Given the description of an element on the screen output the (x, y) to click on. 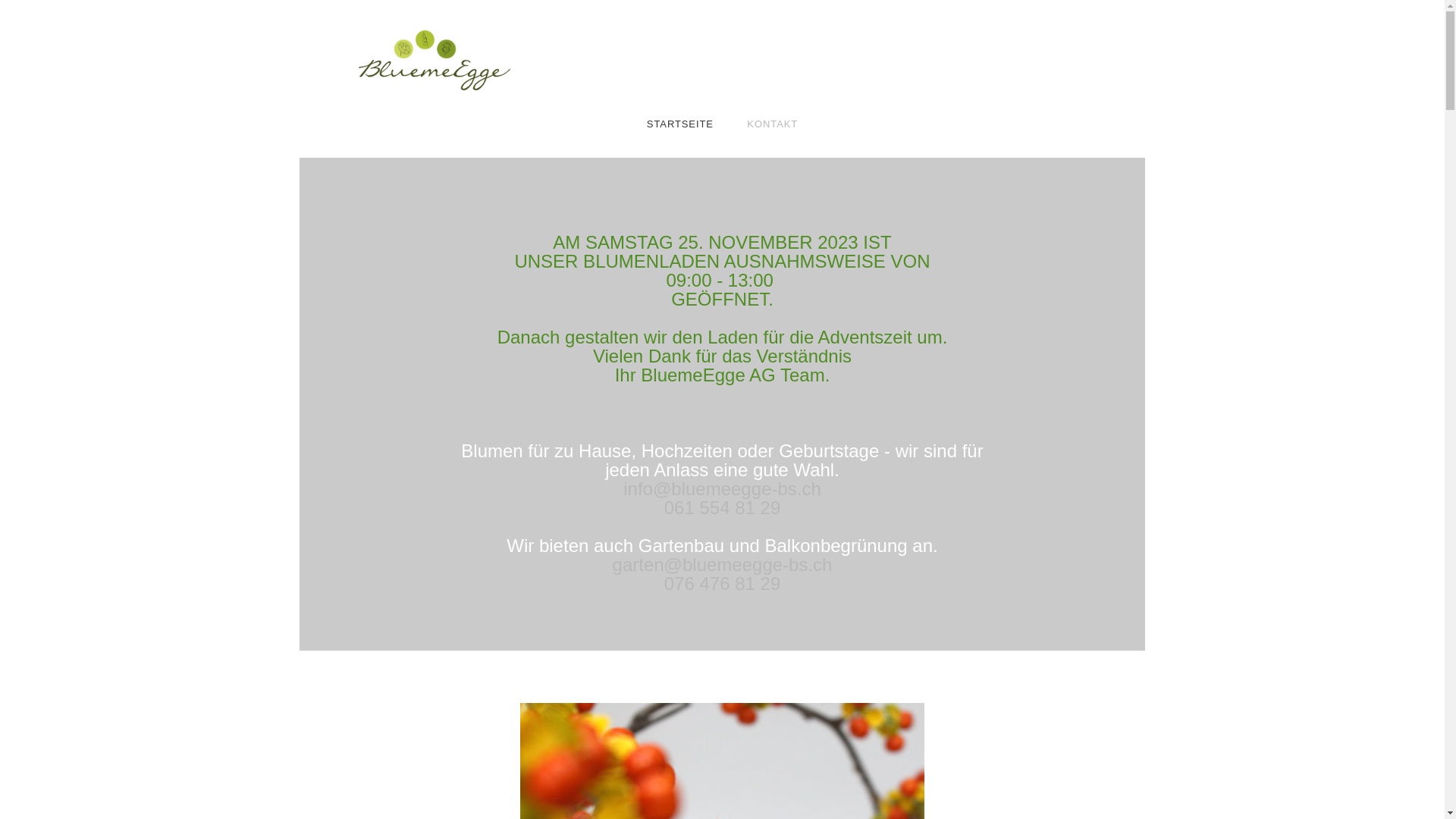
061 554 81 29 Element type: text (722, 507)
info@bluemeegge-bs.ch Element type: text (722, 488)
STARTSEITE Element type: text (679, 123)
garten@bluemeegge-bs.ch Element type: text (722, 564)
KONTAKT Element type: text (772, 123)
076 476 81 29 Element type: text (722, 583)
